Given the description of an element on the screen output the (x, y) to click on. 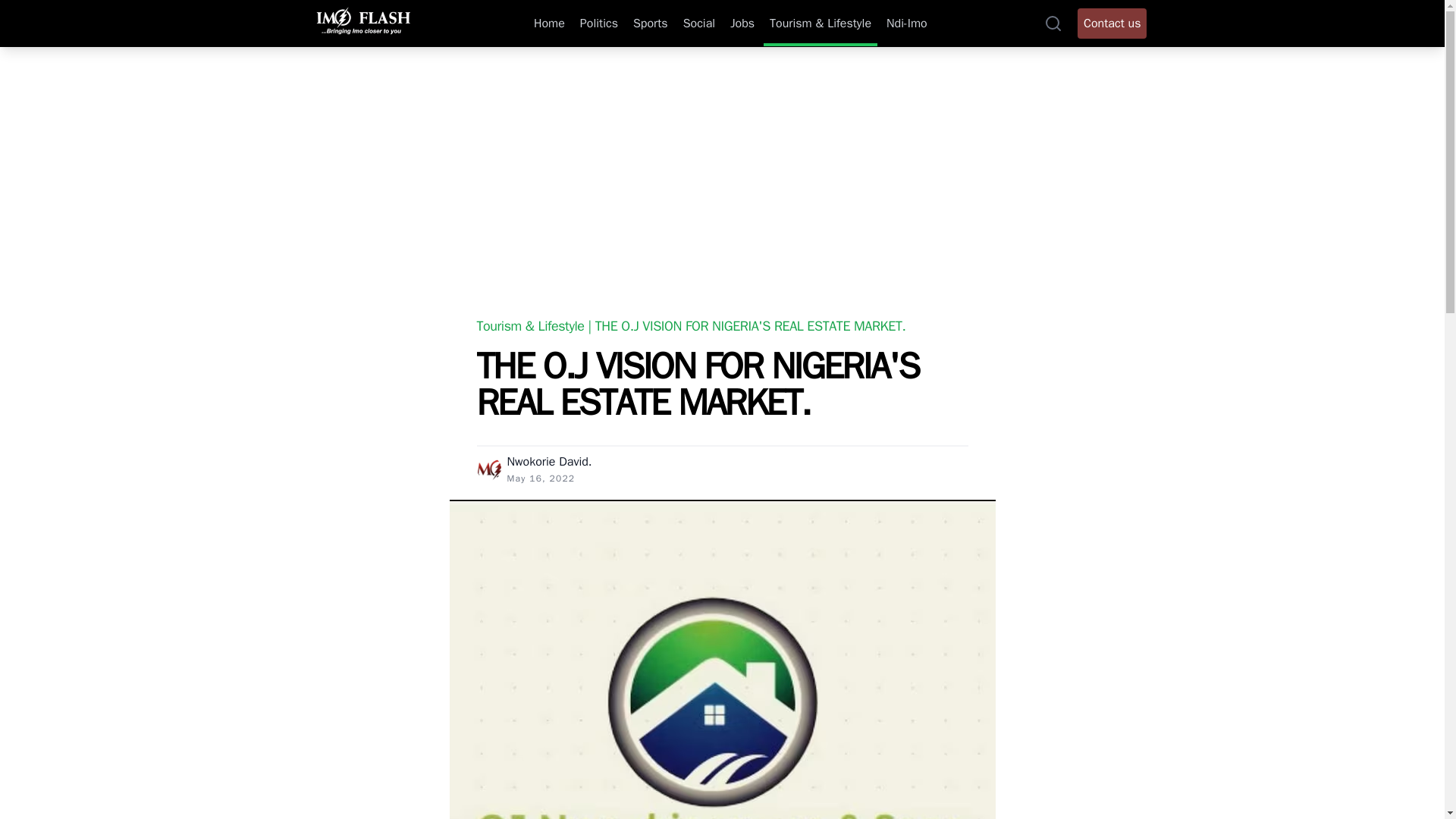
Ndi-Imo (906, 23)
Social (698, 23)
Contact us (1112, 23)
Nwokorie David (547, 461)
Jobs (741, 23)
Home (548, 23)
Politics (598, 23)
Sports (650, 23)
